Given the description of an element on the screen output the (x, y) to click on. 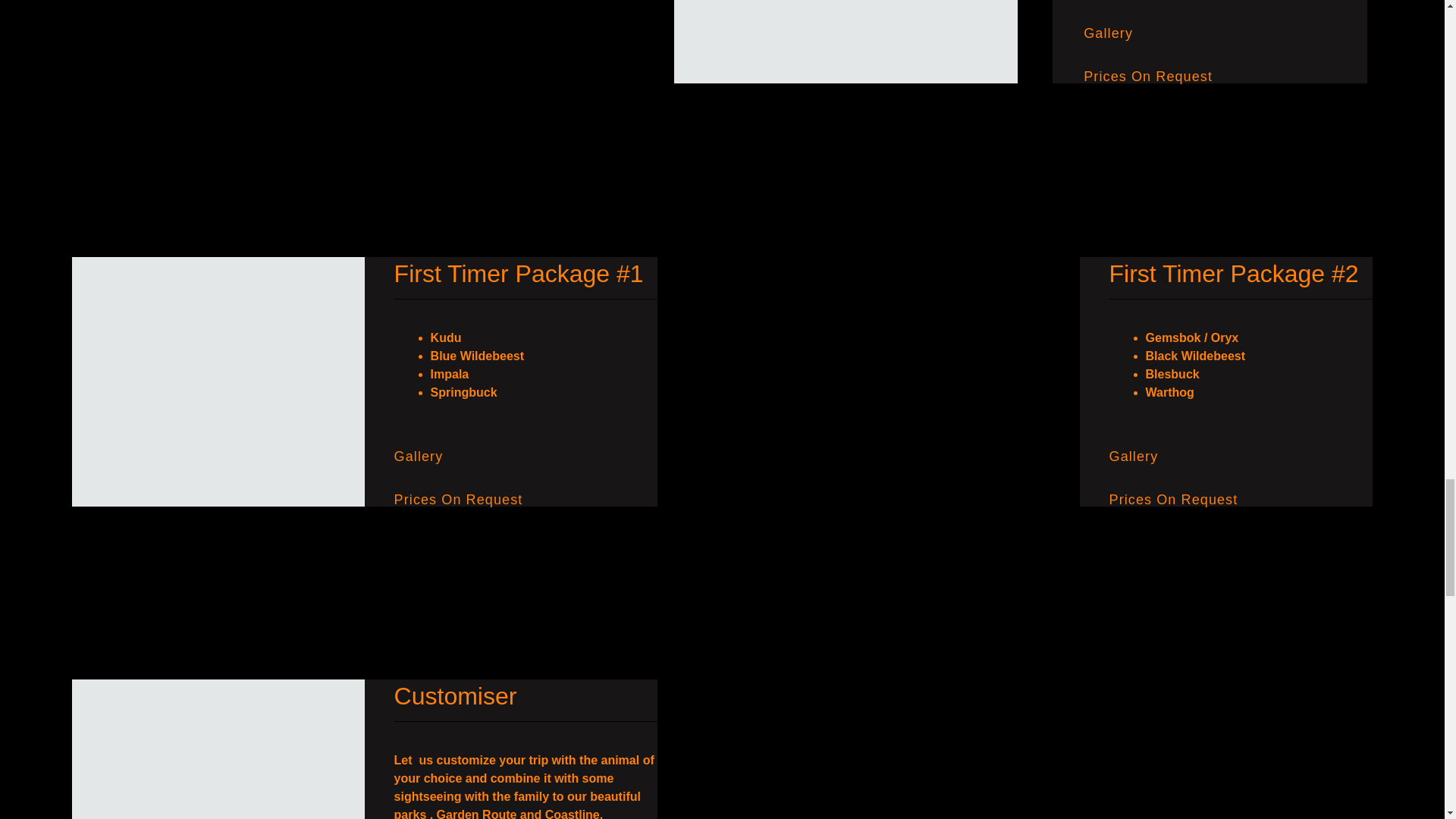
Gallery (419, 456)
Gallery (1133, 456)
Gallery (1107, 32)
Prices On Request (458, 498)
Prices On Request (1147, 76)
Prices On Request (1174, 498)
